Given the description of an element on the screen output the (x, y) to click on. 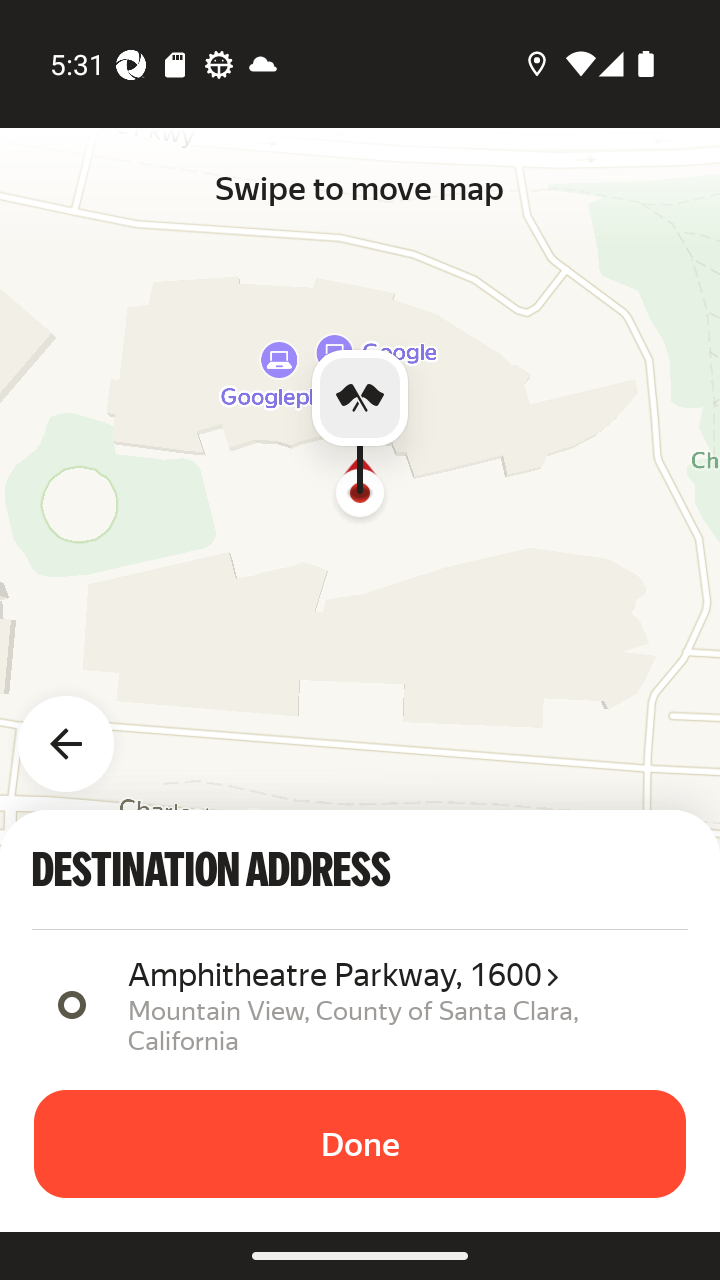
Back (78, 732)
Done (359, 1144)
